Given the description of an element on the screen output the (x, y) to click on. 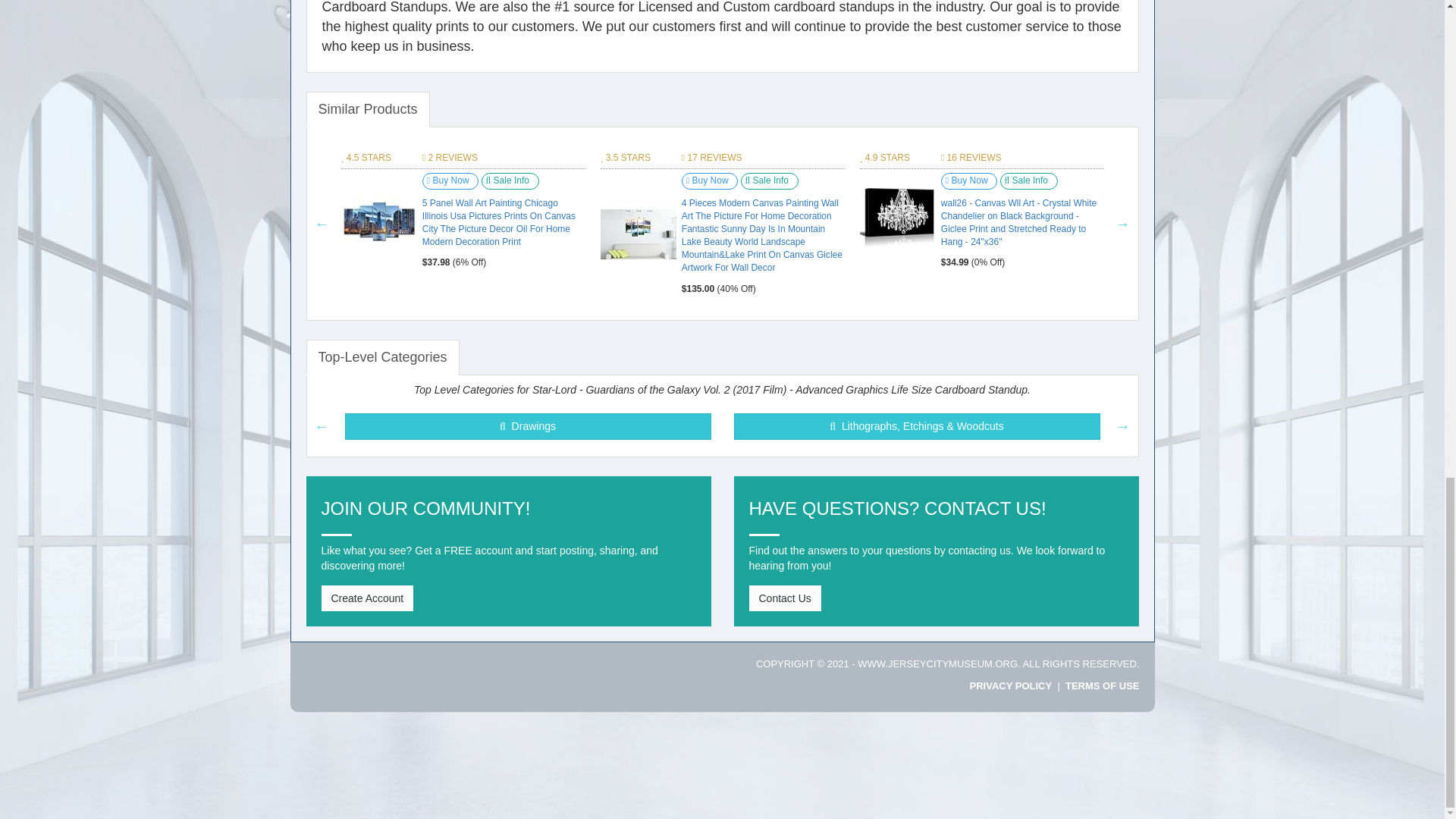
Previous (321, 223)
Similar Products (367, 109)
Sale Info   (509, 180)
Buy Now   (450, 180)
